Given the description of an element on the screen output the (x, y) to click on. 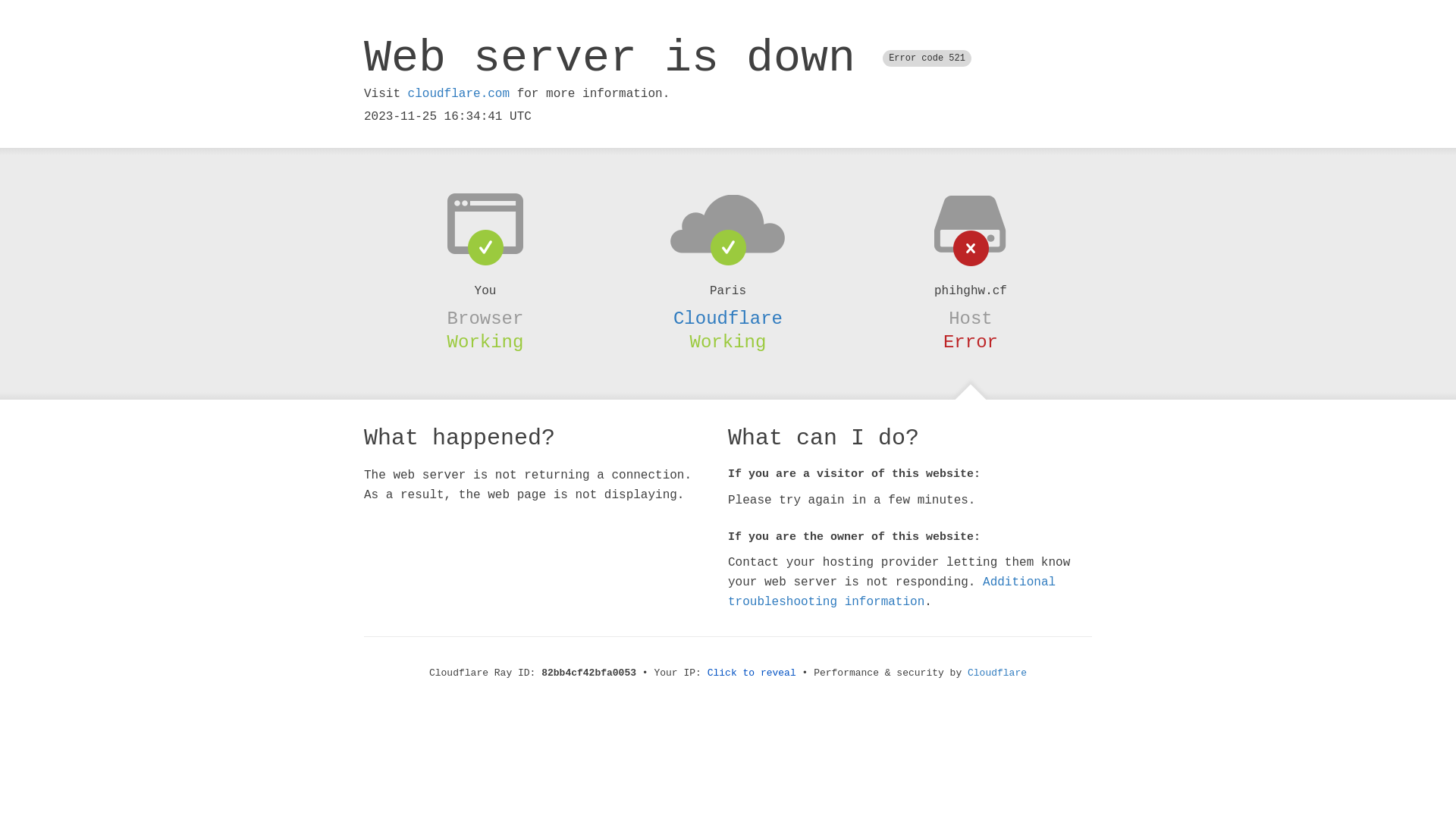
Click to reveal Element type: text (751, 672)
Additional troubleshooting information Element type: text (891, 591)
Cloudflare Element type: text (996, 672)
Cloudflare Element type: text (727, 318)
cloudflare.com Element type: text (458, 93)
